Given the description of an element on the screen output the (x, y) to click on. 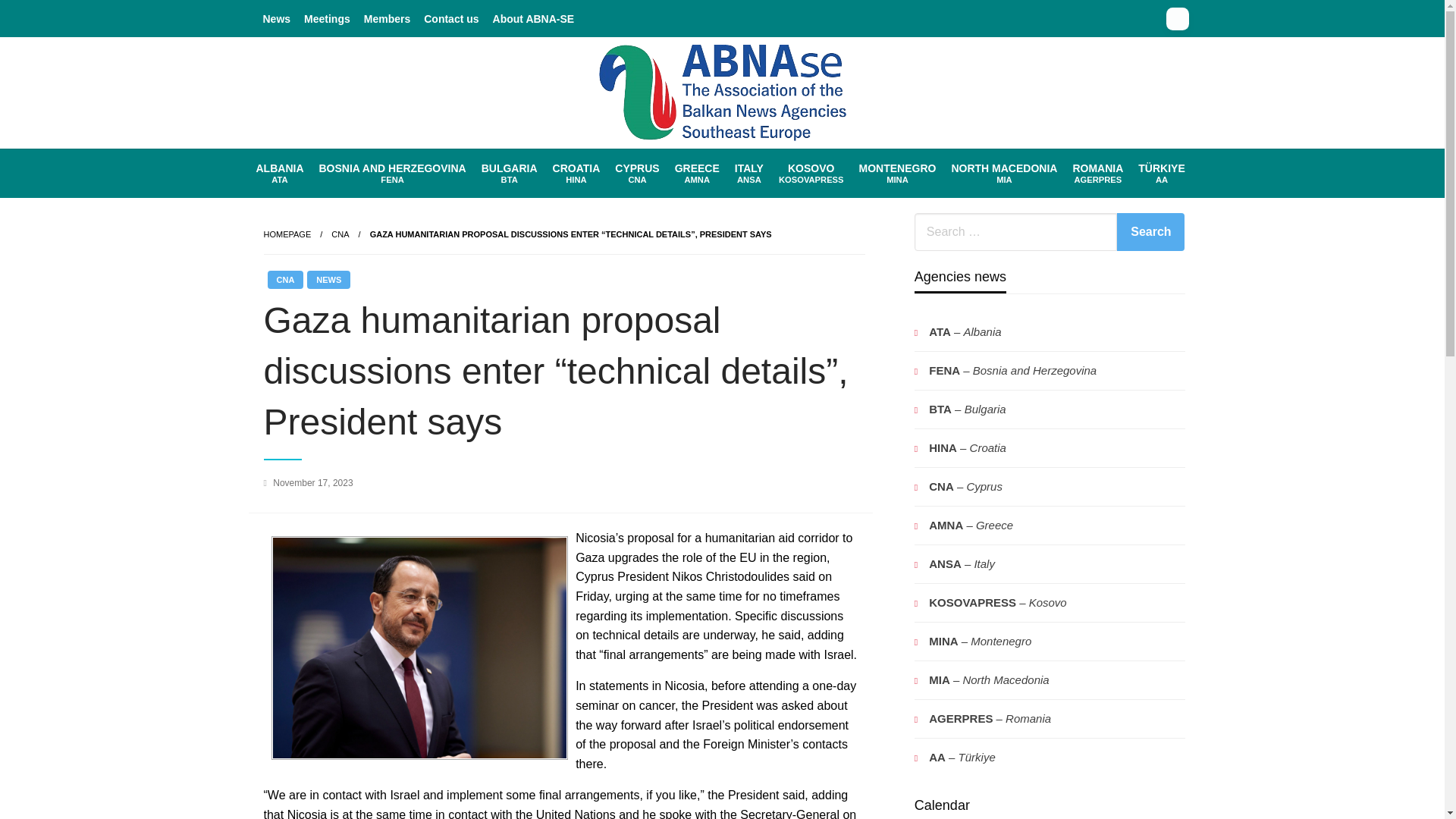
BTA (509, 173)
Members (392, 173)
Search (897, 173)
MIA (386, 18)
HINA (1150, 231)
ANA (1003, 173)
MINA (576, 173)
